Given the description of an element on the screen output the (x, y) to click on. 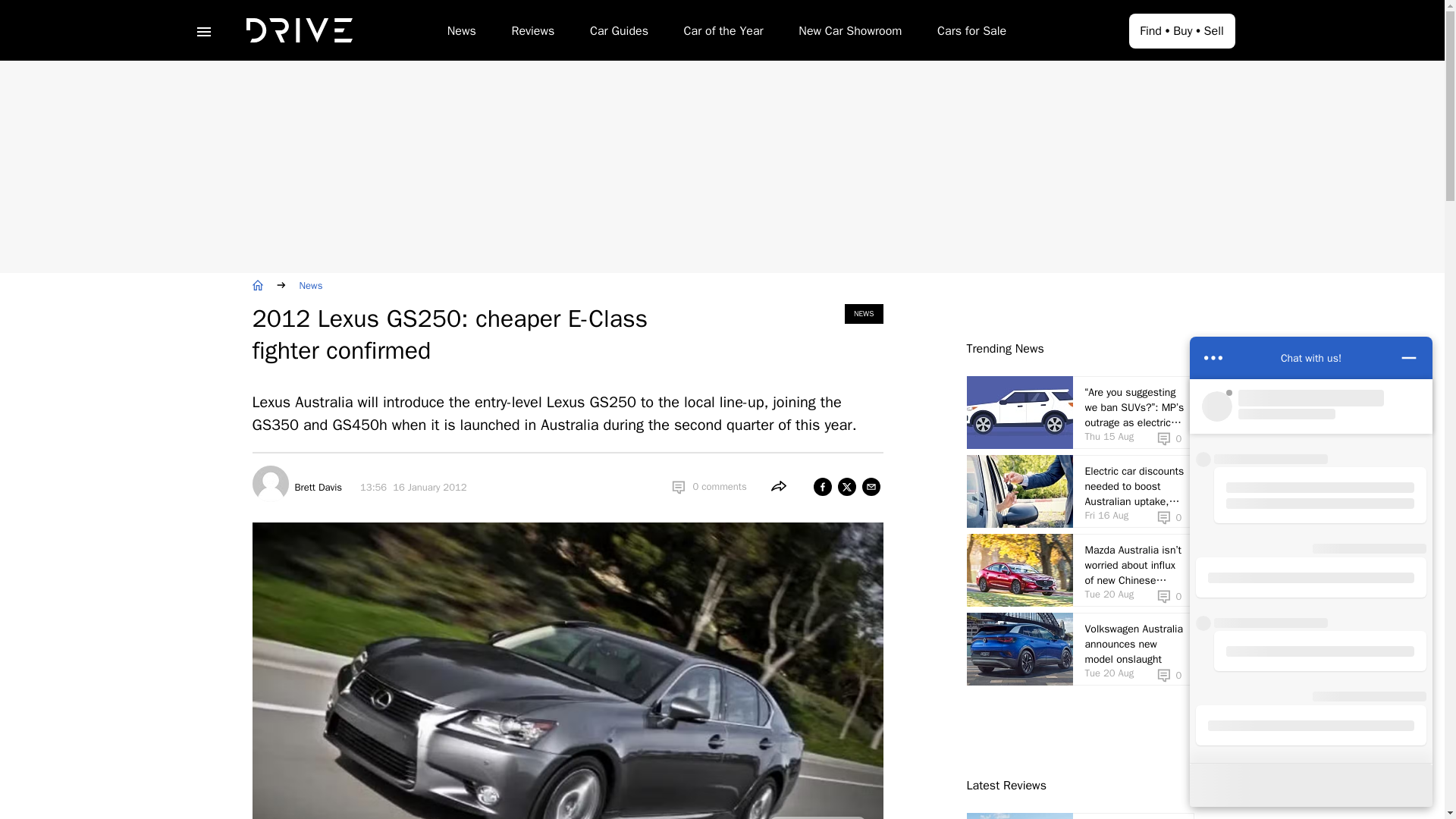
Share via e-mail (870, 486)
New Car Showroom (849, 33)
Cars for Sale (971, 33)
Car Guides (618, 33)
Car of the Year (723, 33)
Reviews (532, 33)
Share on X (846, 486)
Share on Facebook (821, 486)
News (461, 33)
